Given the description of an element on the screen output the (x, y) to click on. 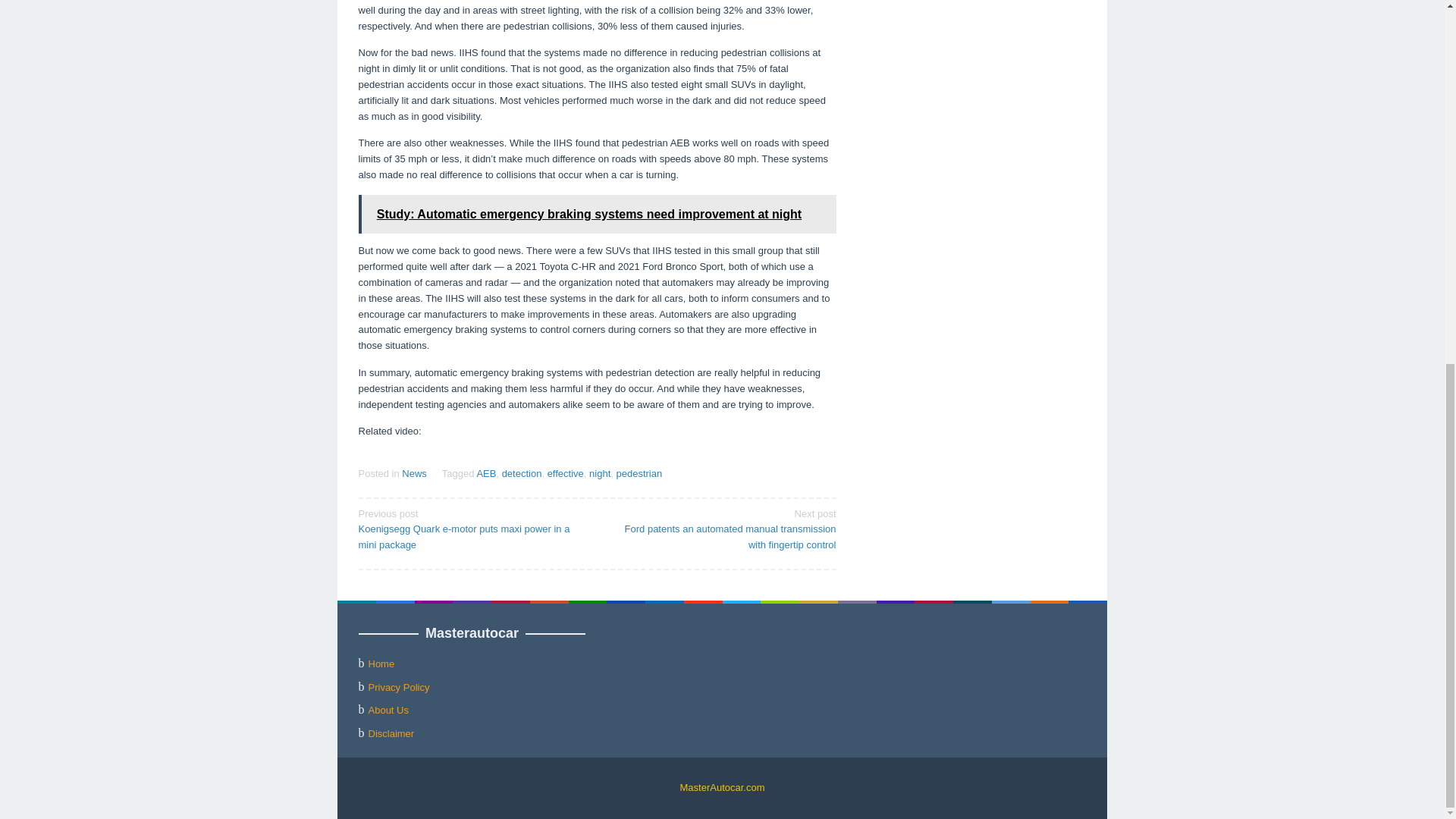
Disclaimer (391, 733)
night (599, 473)
detection (521, 473)
effective (565, 473)
Privacy Policy (398, 686)
pedestrian (638, 473)
AEB (486, 473)
About Us (388, 709)
